Given the description of an element on the screen output the (x, y) to click on. 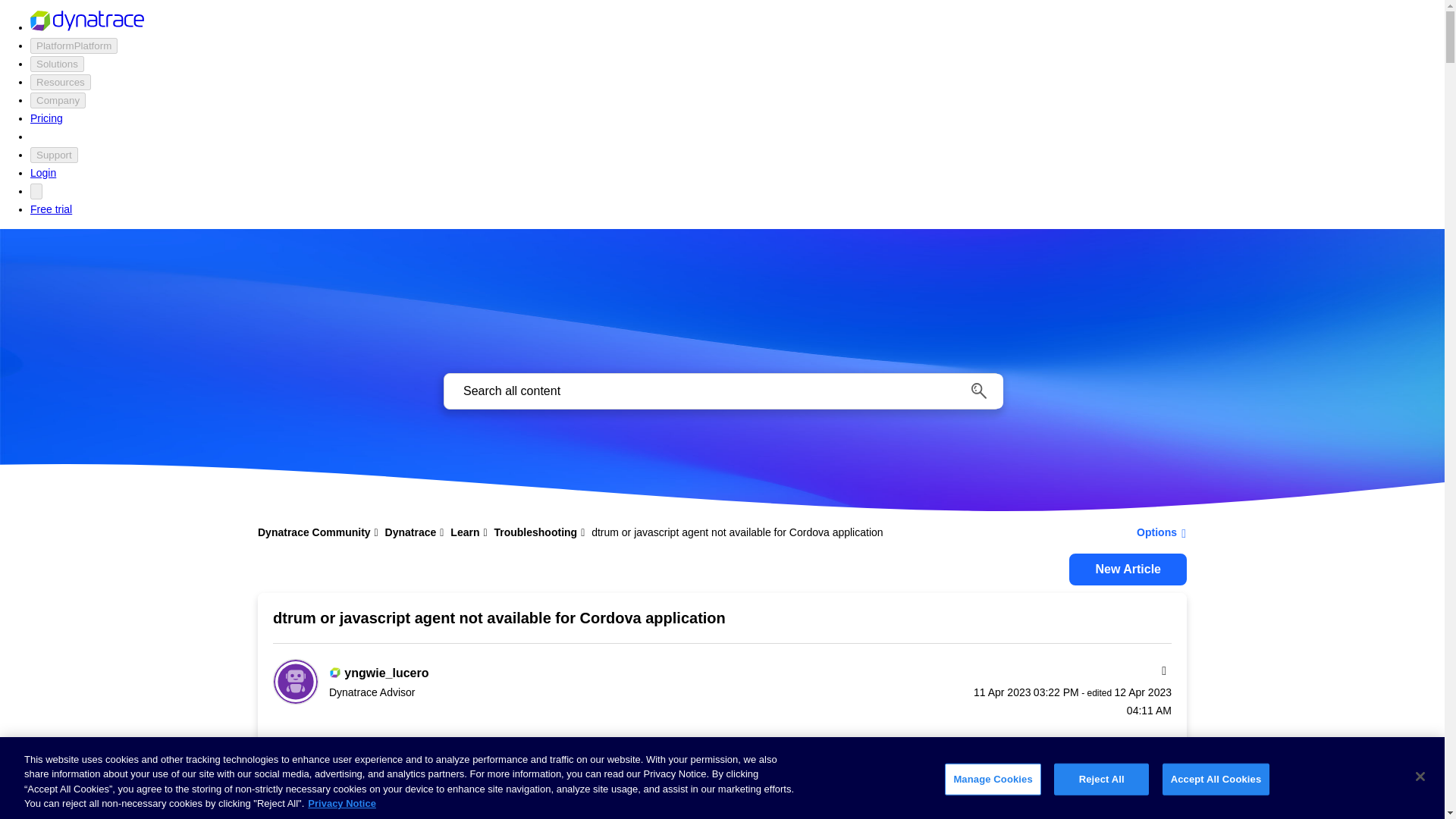
Troubleshooting (636, 105)
ASK (421, 108)
Developer (647, 81)
Show option menu (1156, 531)
Dynatrace Community (312, 81)
DQL (421, 105)
Dynatrace (438, 81)
Start with Dynatrace (646, 105)
Videos (614, 105)
Search (722, 391)
Search (979, 390)
Real User Monitoring (460, 105)
Community sign in (1127, 82)
Extensions (811, 105)
Dynatrace tips (631, 105)
